Given the description of an element on the screen output the (x, y) to click on. 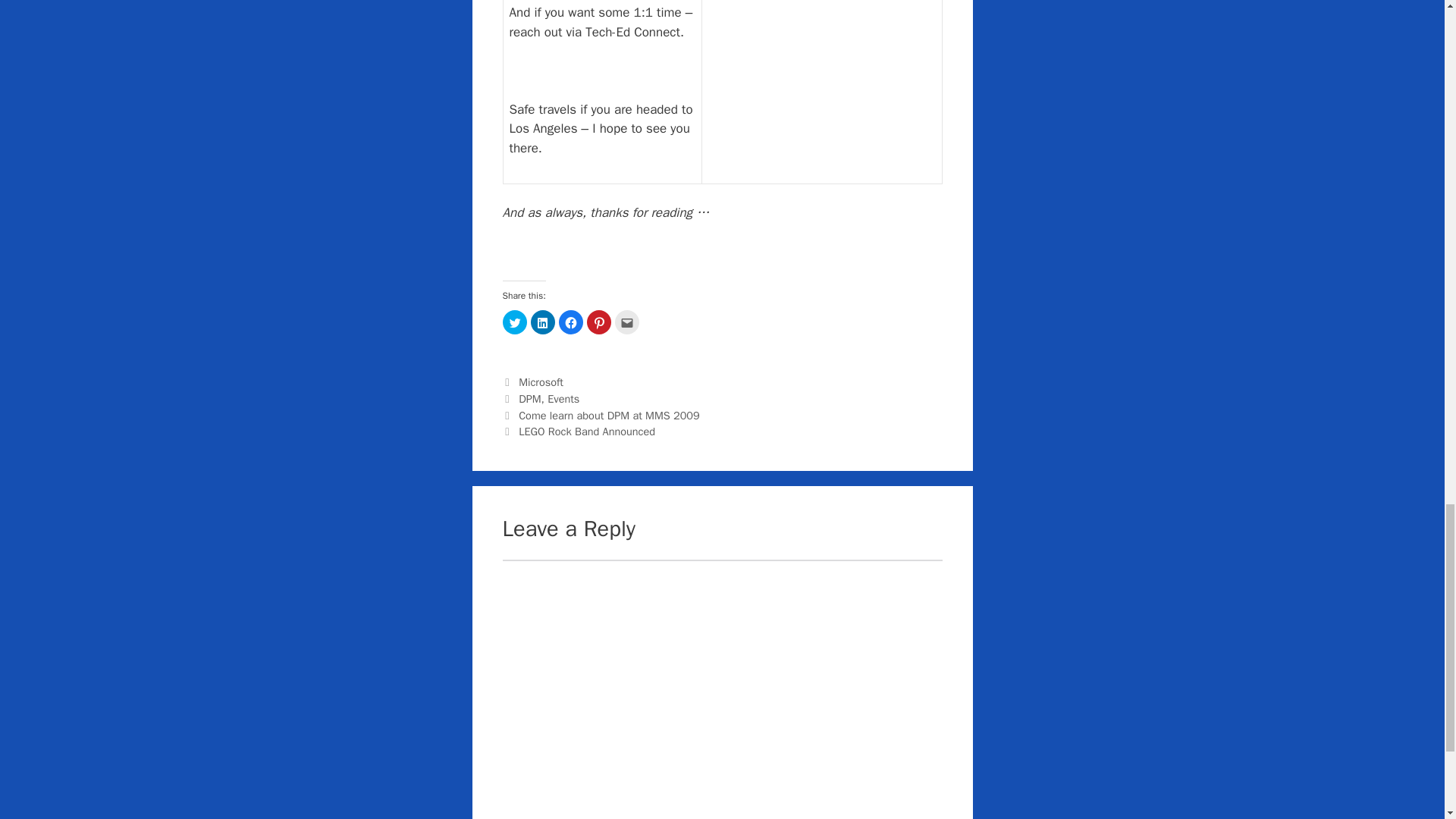
LEGO Rock Band Announced (586, 431)
Click to share on LinkedIn (542, 322)
Click to share on Facebook (569, 322)
Comment Form (722, 689)
Click to email this to a friend (626, 322)
Click to share on Pinterest (598, 322)
Previous (600, 415)
DPM (529, 398)
Microsoft (540, 382)
Click to share on Twitter (513, 322)
Next (578, 431)
Events (563, 398)
Come learn about DPM at MMS 2009 (609, 415)
